Given the description of an element on the screen output the (x, y) to click on. 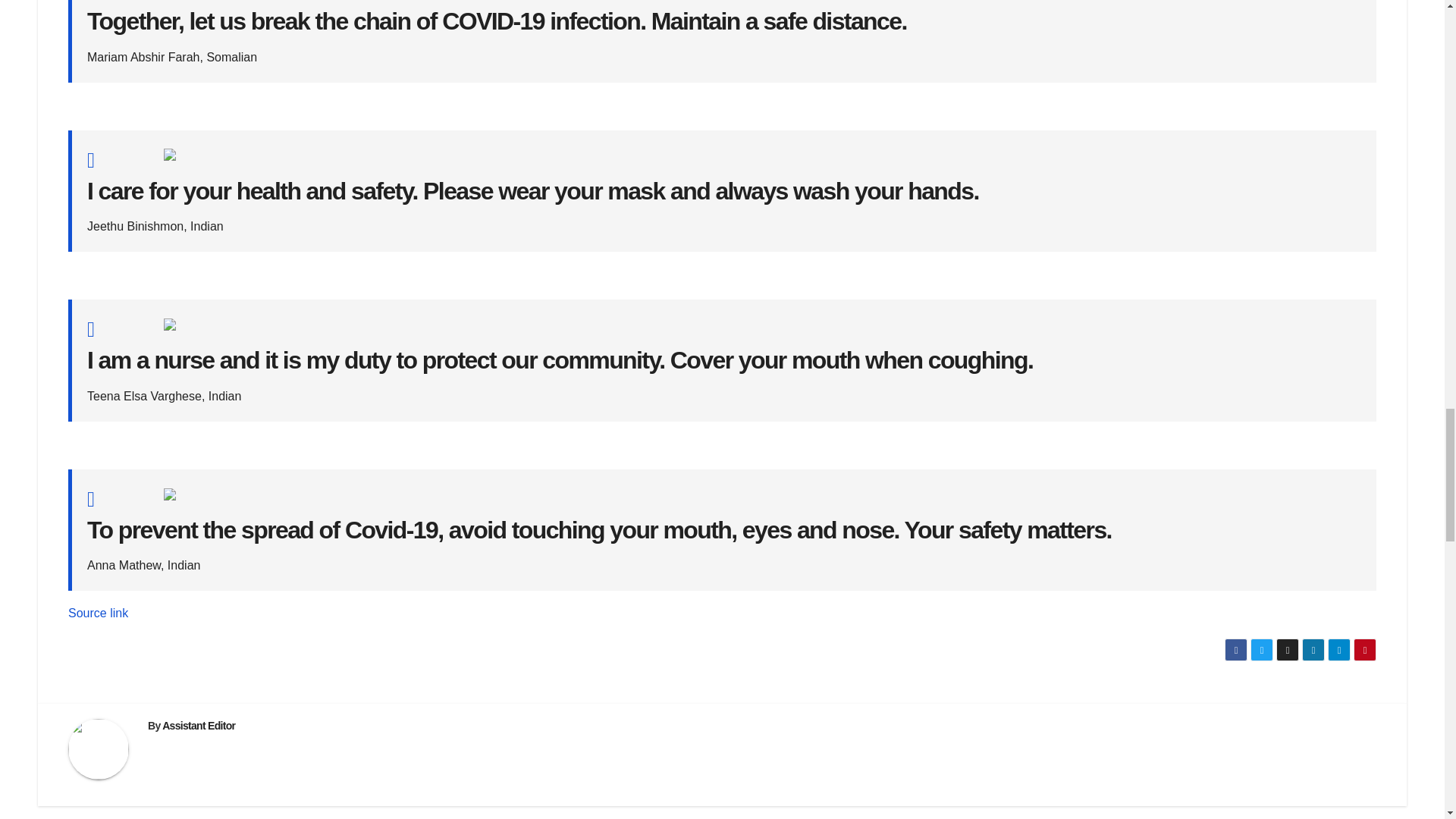
Assistant Editor (197, 725)
Source link (98, 612)
